Given the description of an element on the screen output the (x, y) to click on. 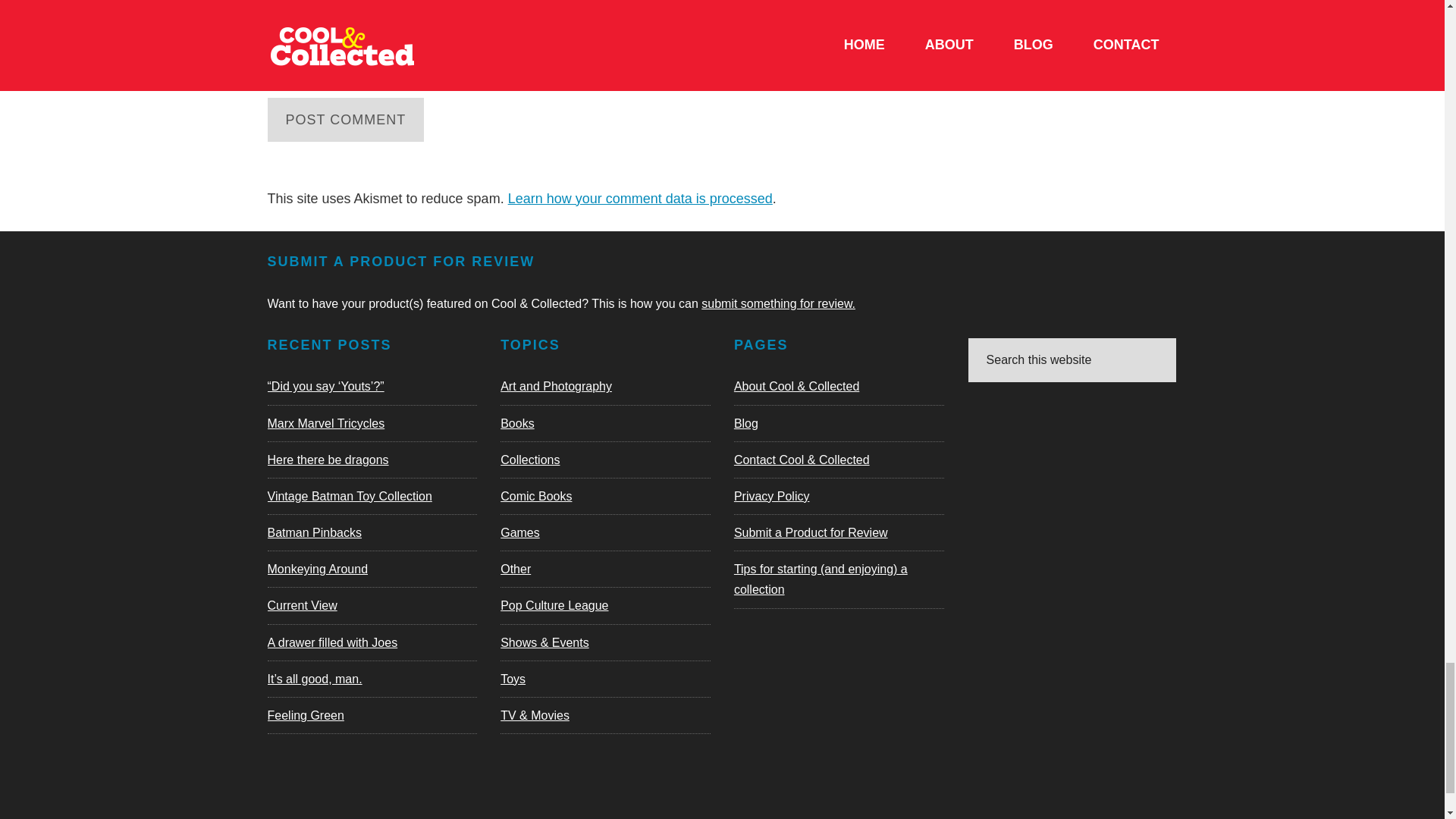
Post Comment (344, 119)
